Given the description of an element on the screen output the (x, y) to click on. 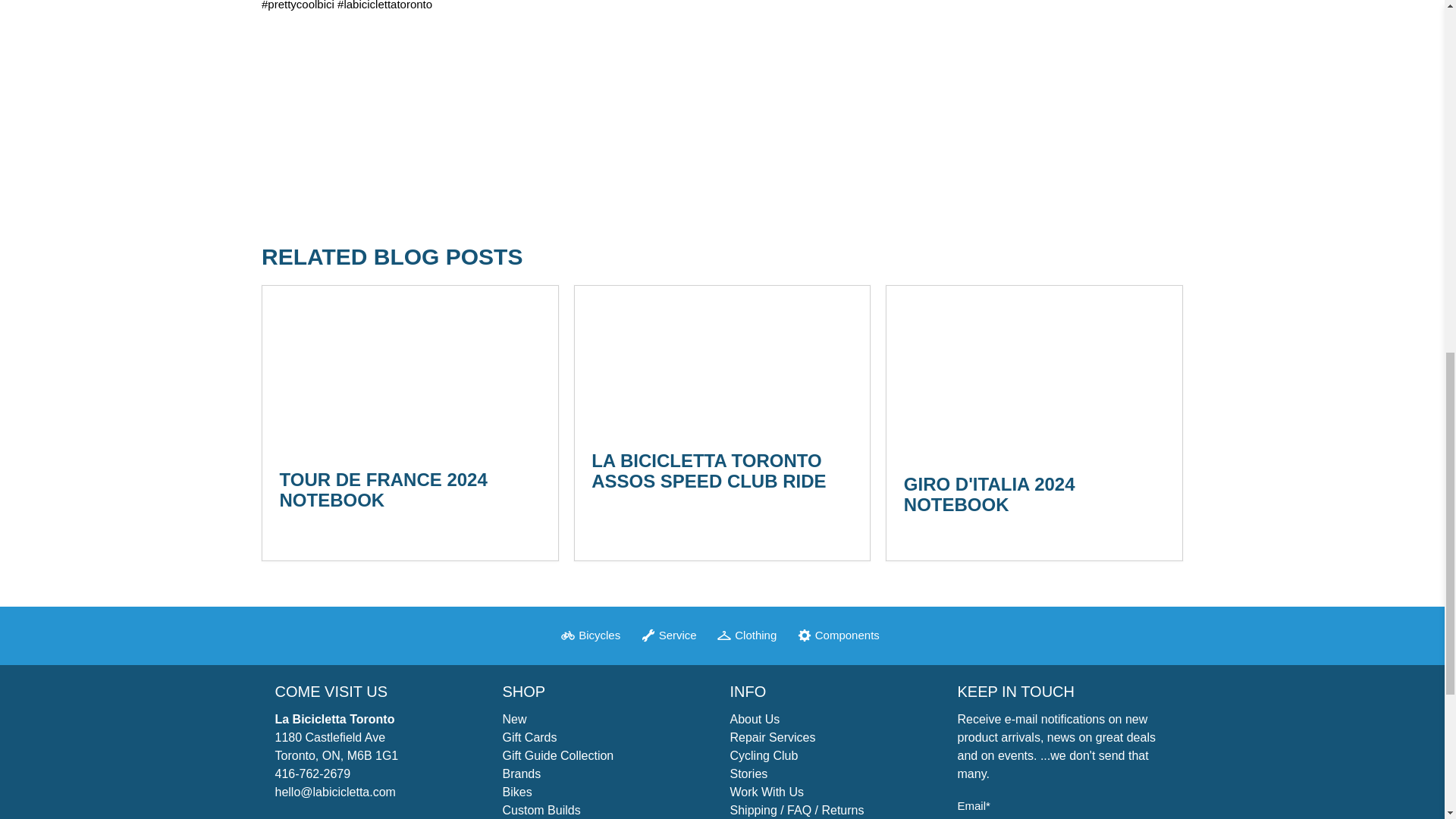
Tour de France 2024 Notebook (409, 368)
La Bicicletta Toronto ASSOS Speed Club Ride (722, 359)
Tour de France 2024 Notebook (382, 489)
